Given the description of an element on the screen output the (x, y) to click on. 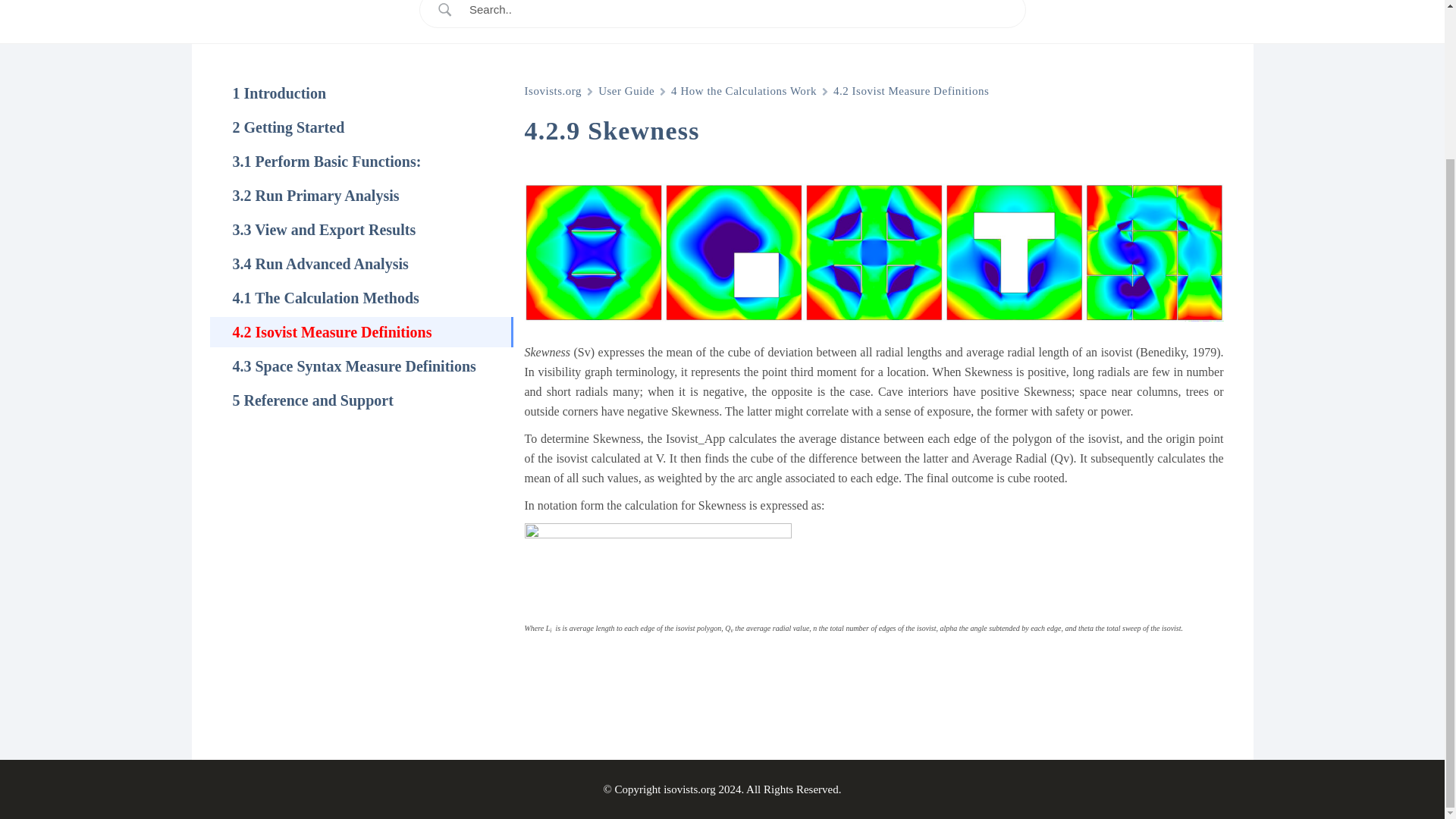
User Guide (625, 91)
4.2 Isovist Measure Definitions (910, 91)
Isovists.org (553, 91)
4 How the Calculations Work (743, 91)
